Given the description of an element on the screen output the (x, y) to click on. 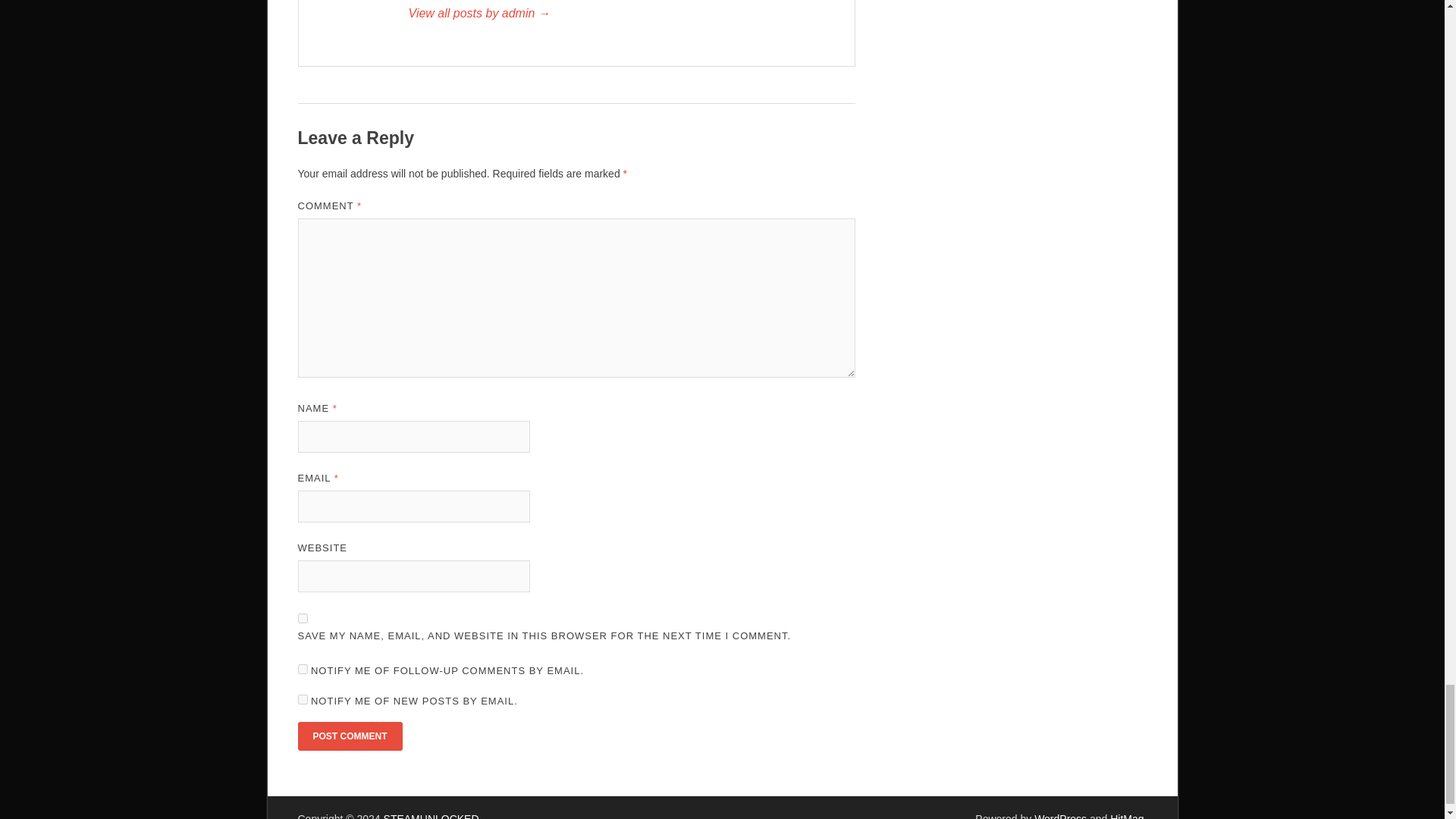
Post Comment (349, 736)
subscribe (302, 669)
yes (302, 618)
subscribe (302, 699)
